Given the description of an element on the screen output the (x, y) to click on. 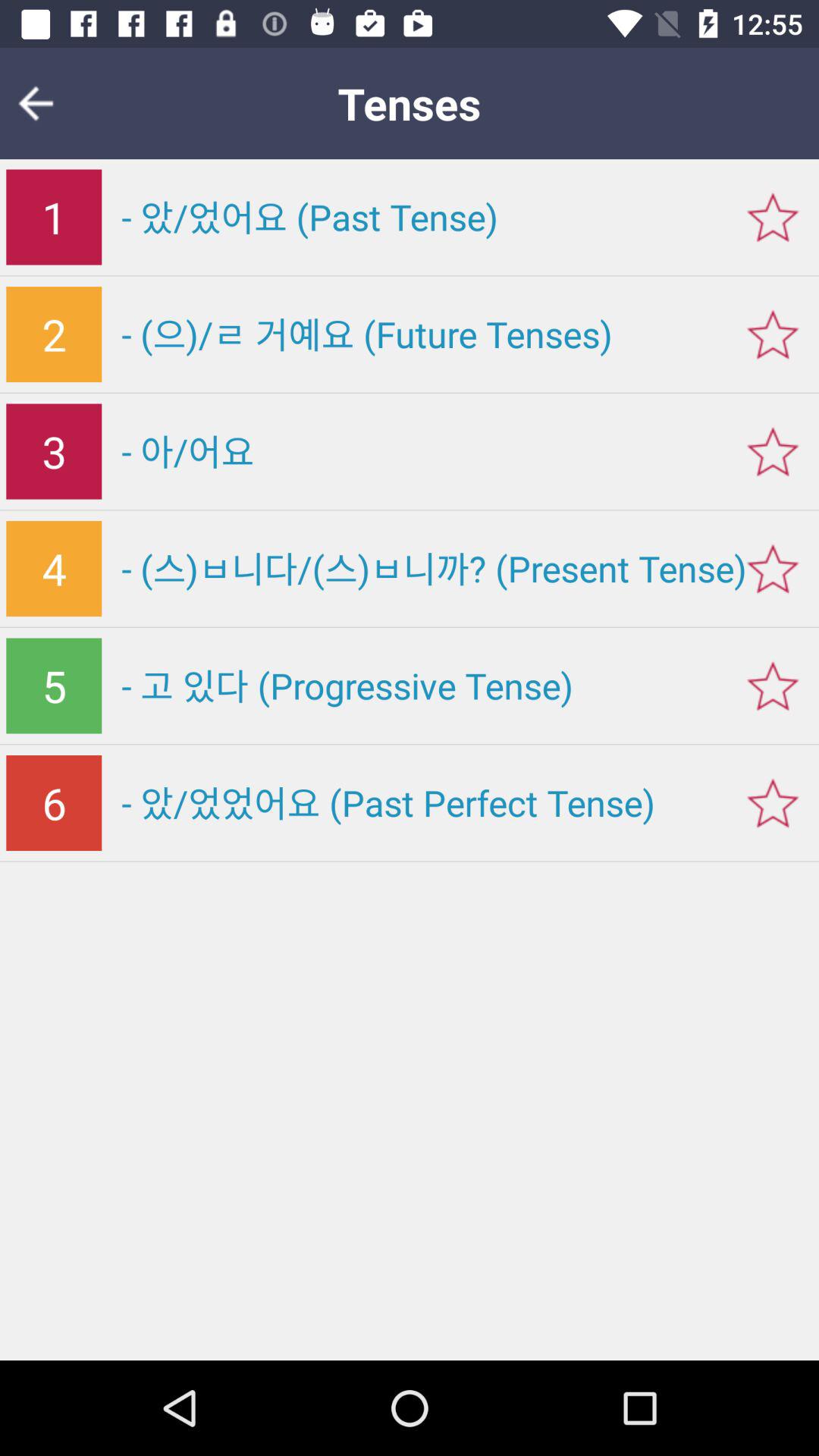
scroll to 5 item (53, 685)
